Given the description of an element on the screen output the (x, y) to click on. 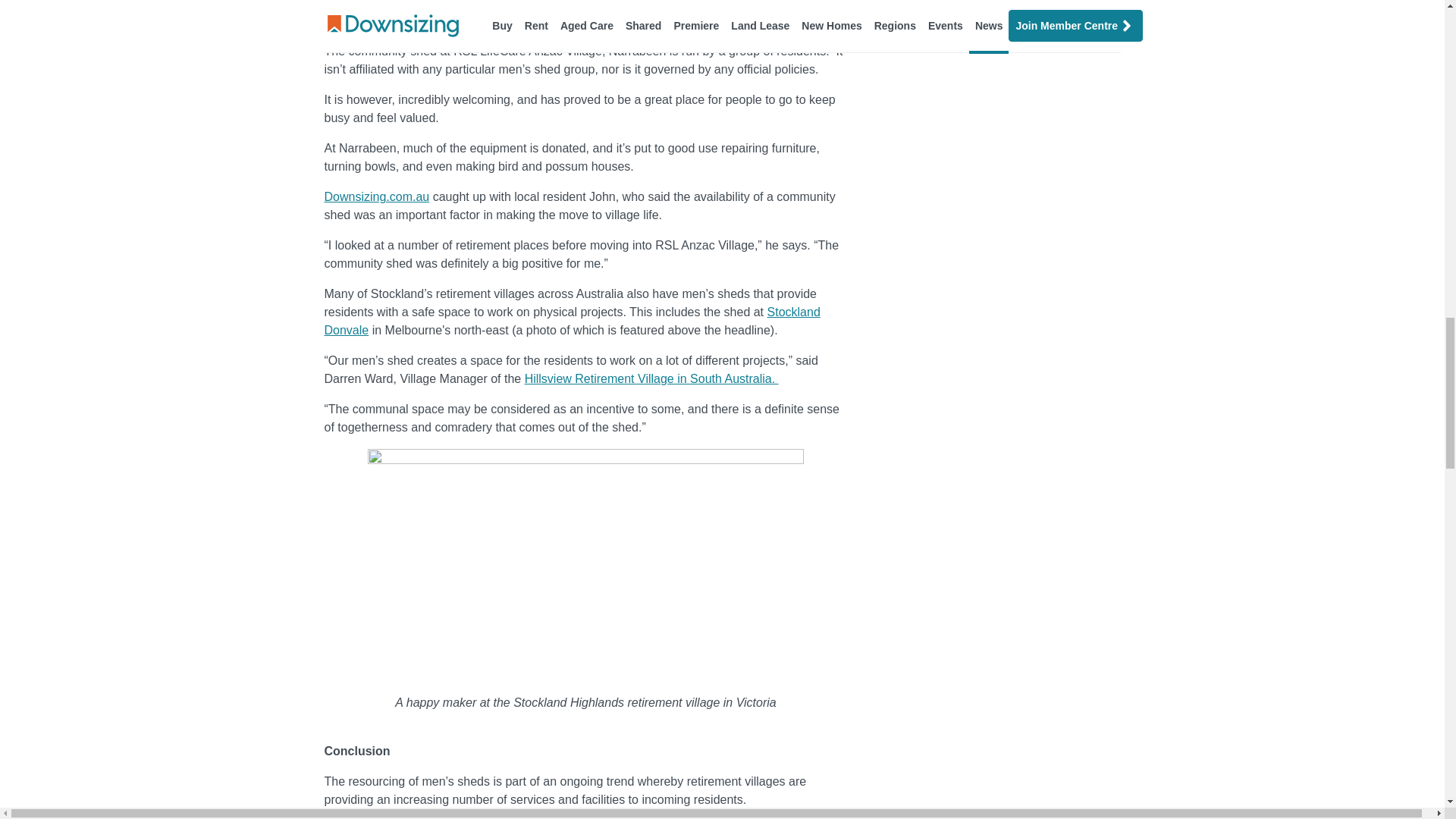
Stockland Donvale (572, 320)
Downsizing.com.au (376, 196)
Hillsview Retirement Village in South Australia.  (651, 378)
